Given the description of an element on the screen output the (x, y) to click on. 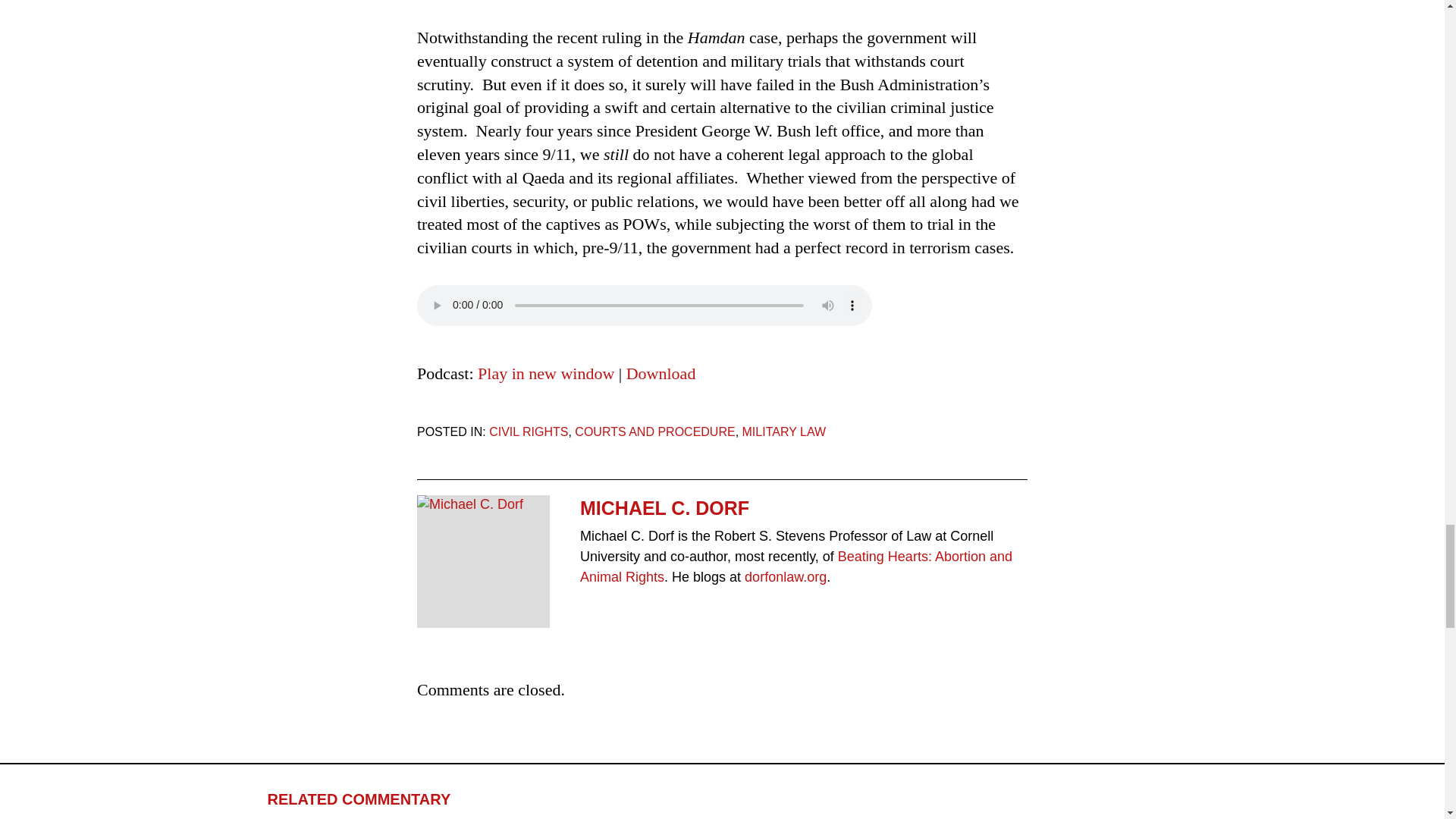
View all posts in Military Law (784, 431)
COURTS AND PROCEDURE (655, 431)
Michael C. Dorf (483, 504)
Download (660, 373)
MILITARY LAW (784, 431)
Beating Hearts: Abortion and Animal Rights (795, 566)
View all posts in Civil Rights (528, 431)
View all posts in Courts and Procedure (655, 431)
Download (660, 373)
Play in new window (545, 373)
